Given the description of an element on the screen output the (x, y) to click on. 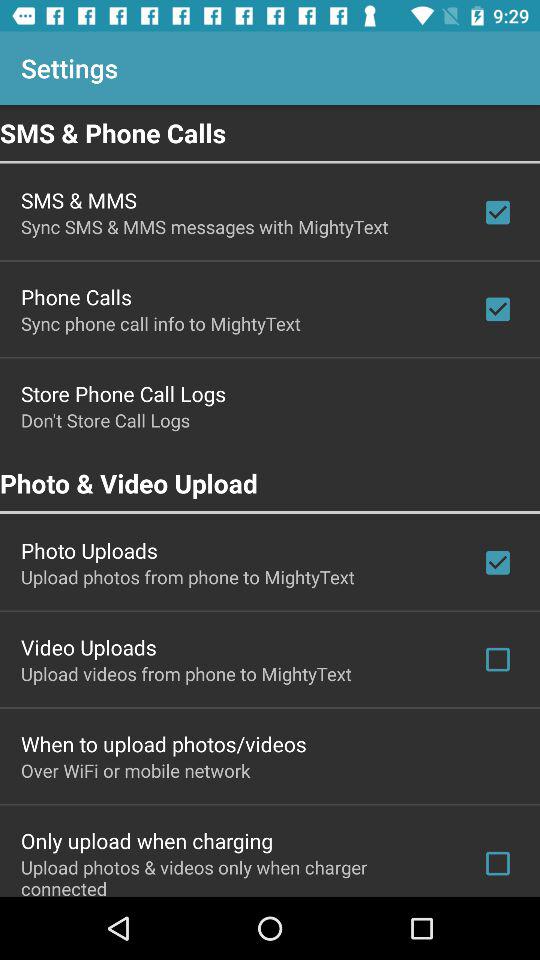
launch the item below when to upload icon (135, 770)
